Given the description of an element on the screen output the (x, y) to click on. 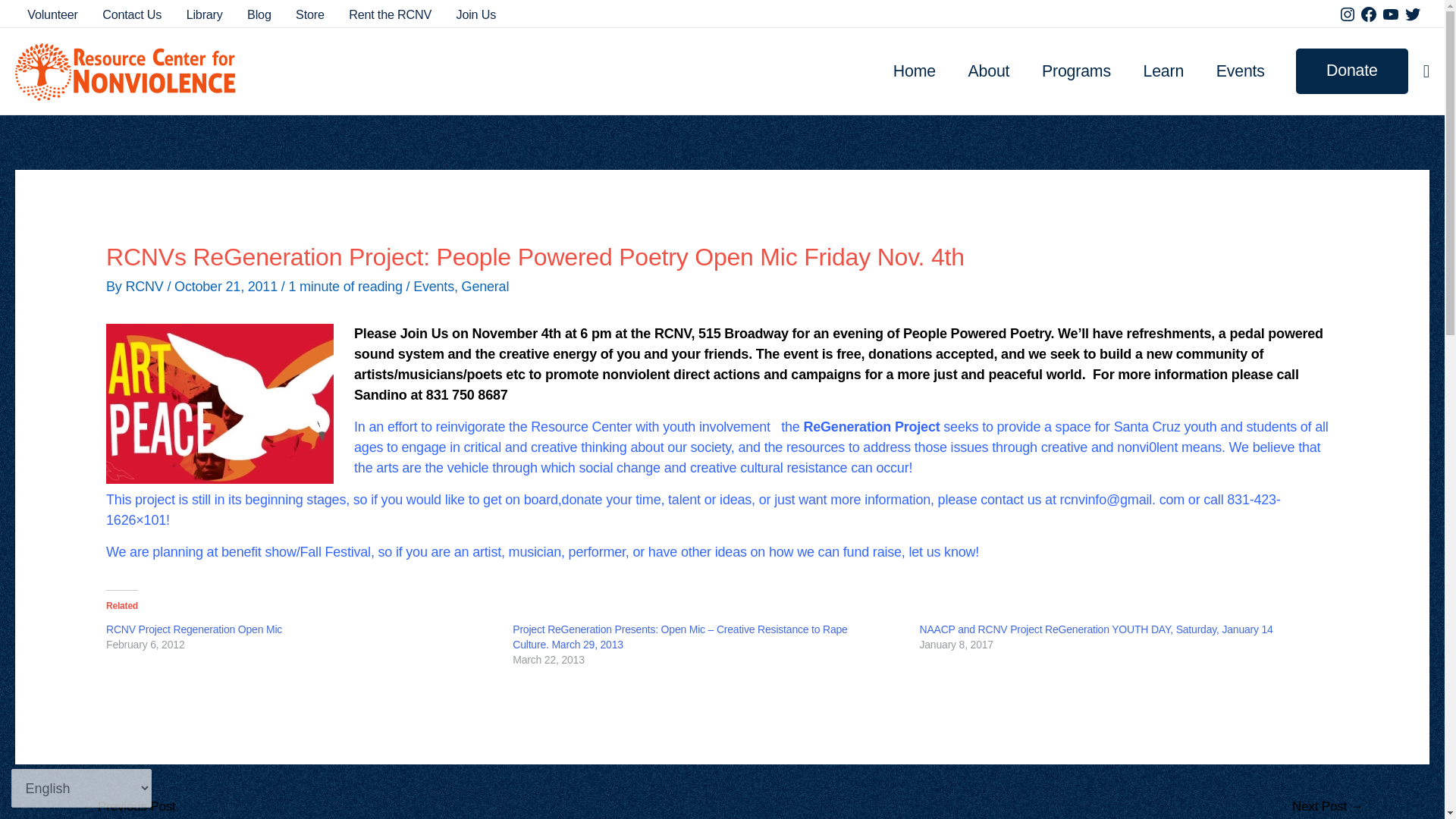
Volunteer (52, 14)
Library (203, 14)
Learn (1162, 70)
Contact Us (131, 14)
Home (914, 70)
Events (1240, 70)
RCNV Project Regeneration Open Mic (194, 629)
Join Us (476, 14)
Programs (1076, 70)
View all posts by RCNV (146, 286)
Donate (1351, 71)
Blog (258, 14)
Store (309, 14)
Rent the RCNV (390, 14)
